Given the description of an element on the screen output the (x, y) to click on. 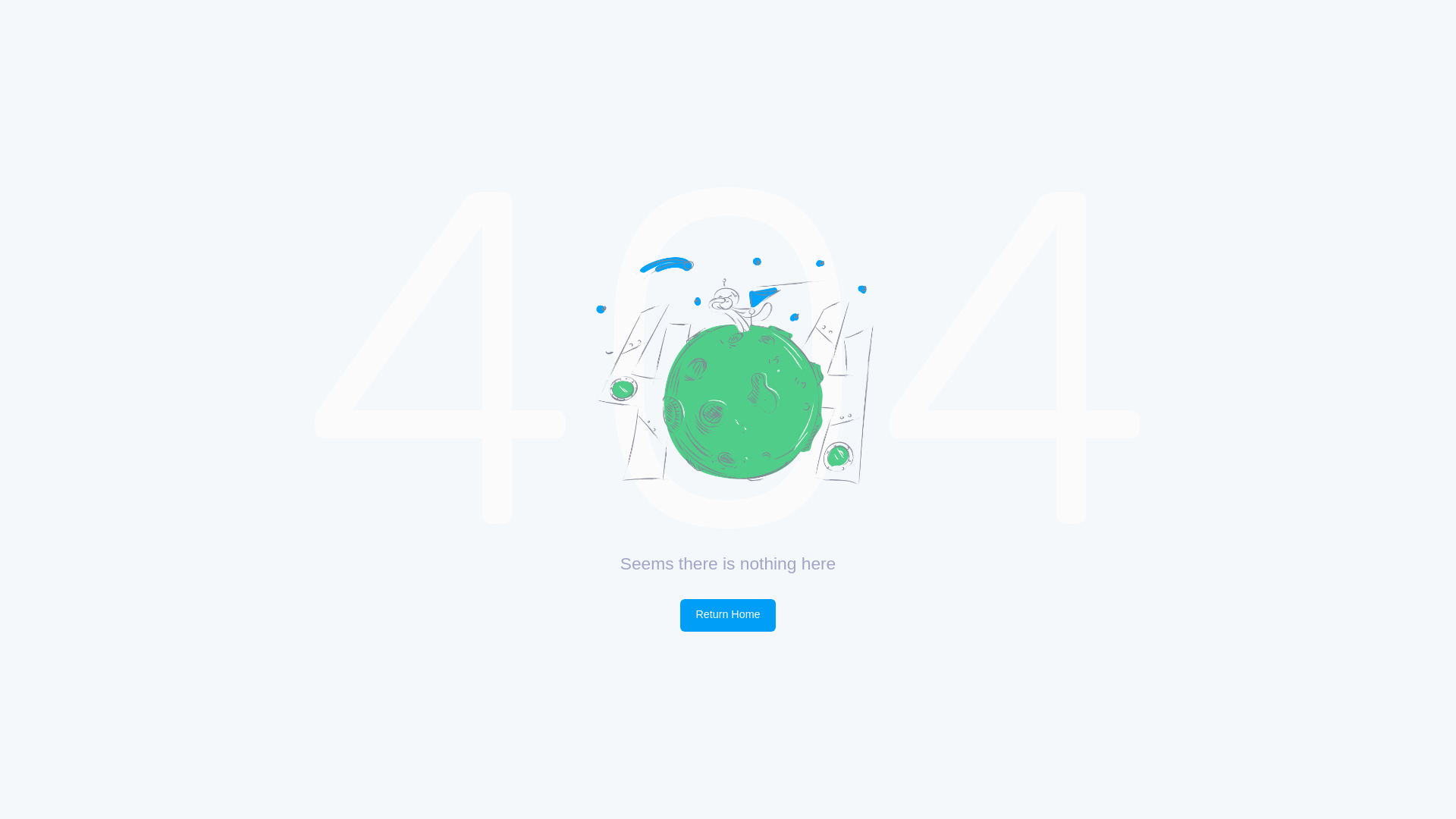
Return Home Element type: text (727, 615)
